Given the description of an element on the screen output the (x, y) to click on. 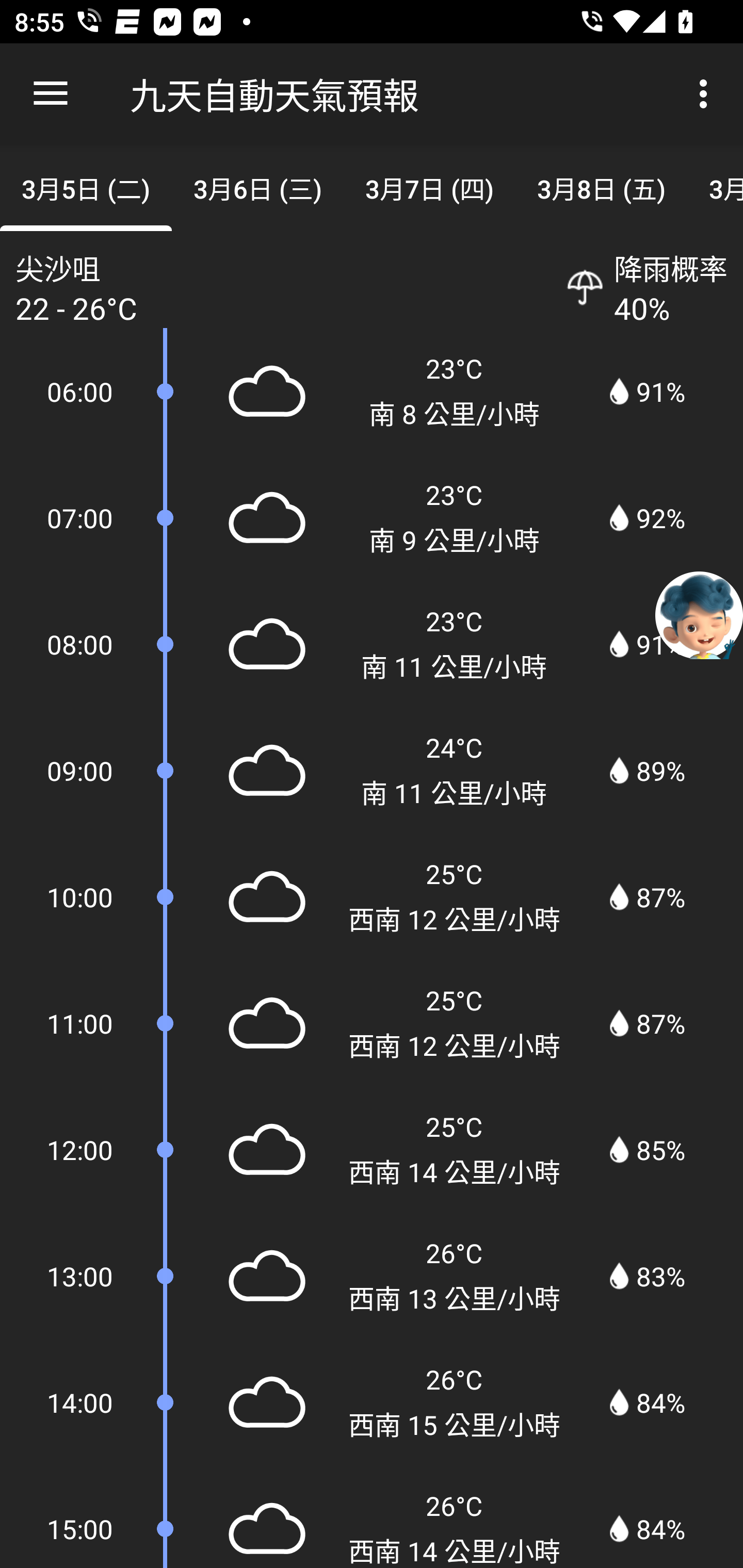
向上瀏覽 (50, 93)
更多選項 (706, 93)
3月6日 (三) (257, 187)
3月7日 (四) (429, 187)
3月8日 (五) (601, 187)
聊天機械人 (699, 614)
